Given the description of an element on the screen output the (x, y) to click on. 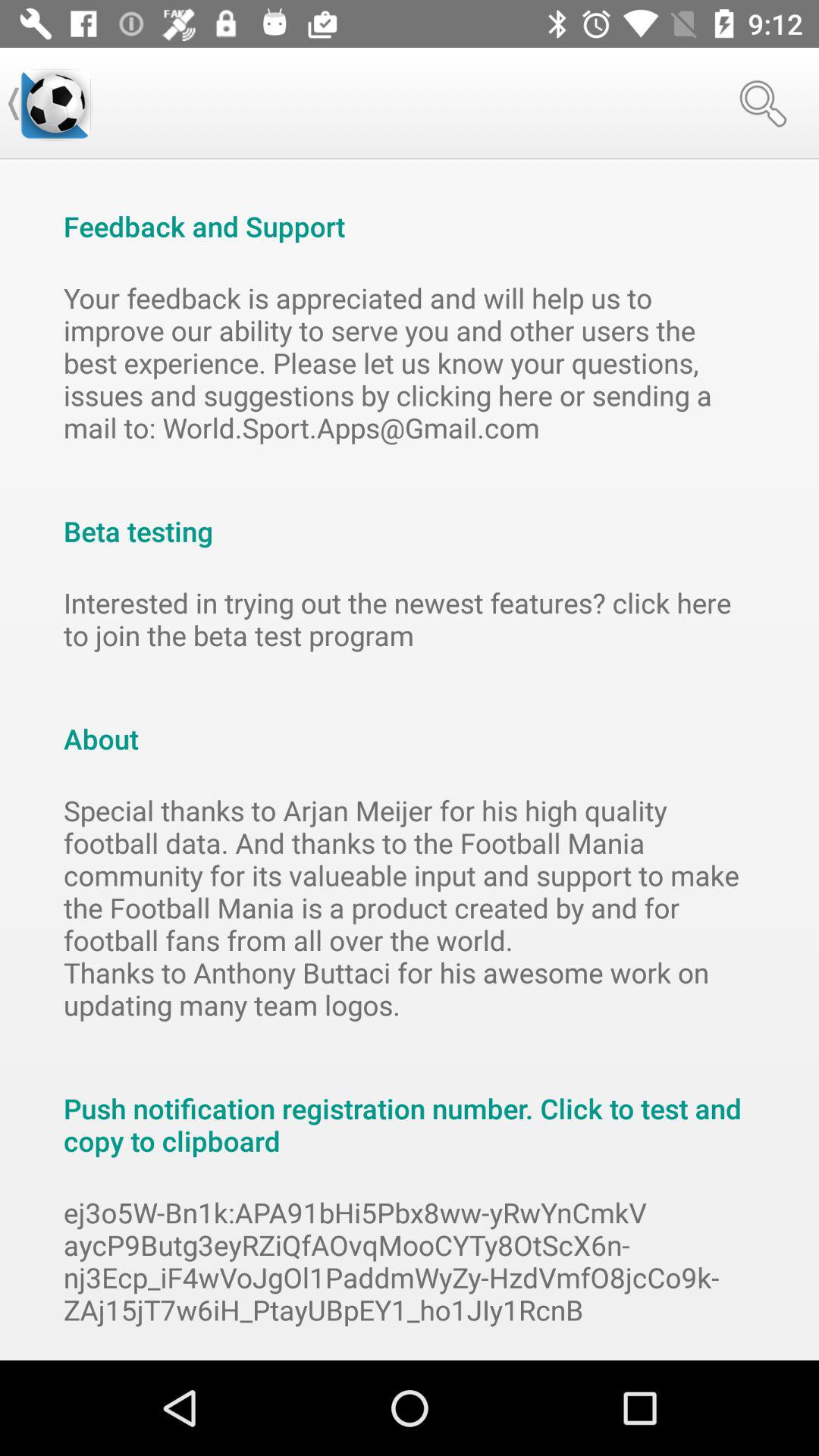
jump until special thanks to icon (409, 907)
